Given the description of an element on the screen output the (x, y) to click on. 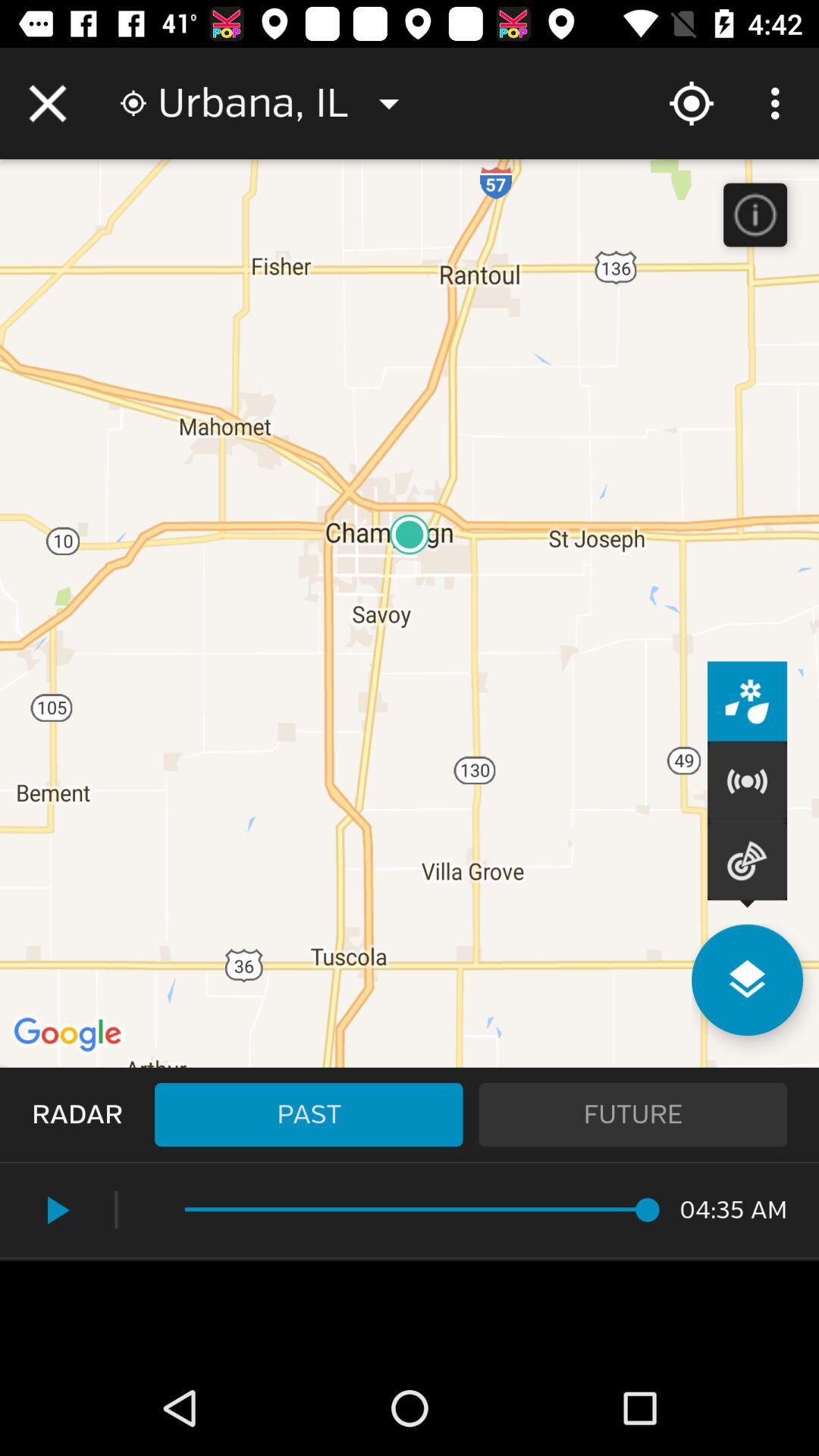
tap the item above the future (747, 979)
